Given the description of an element on the screen output the (x, y) to click on. 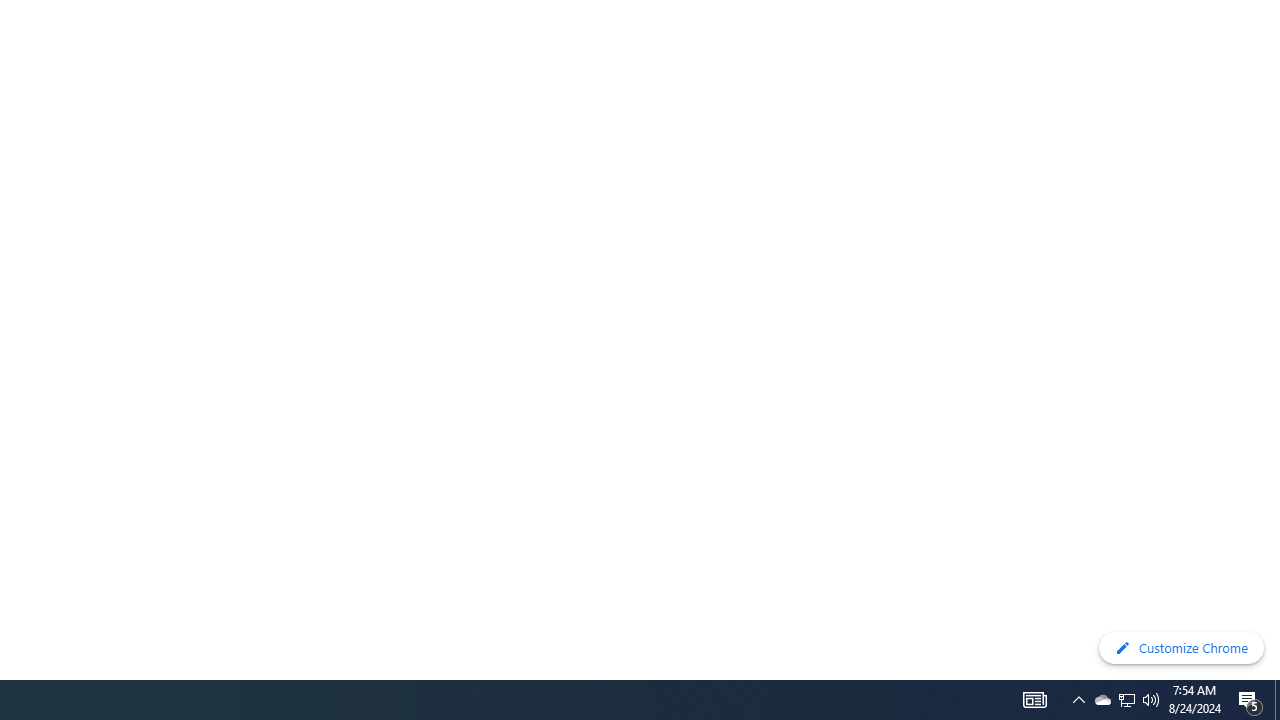
Customize Chrome (1181, 647)
